Given the description of an element on the screen output the (x, y) to click on. 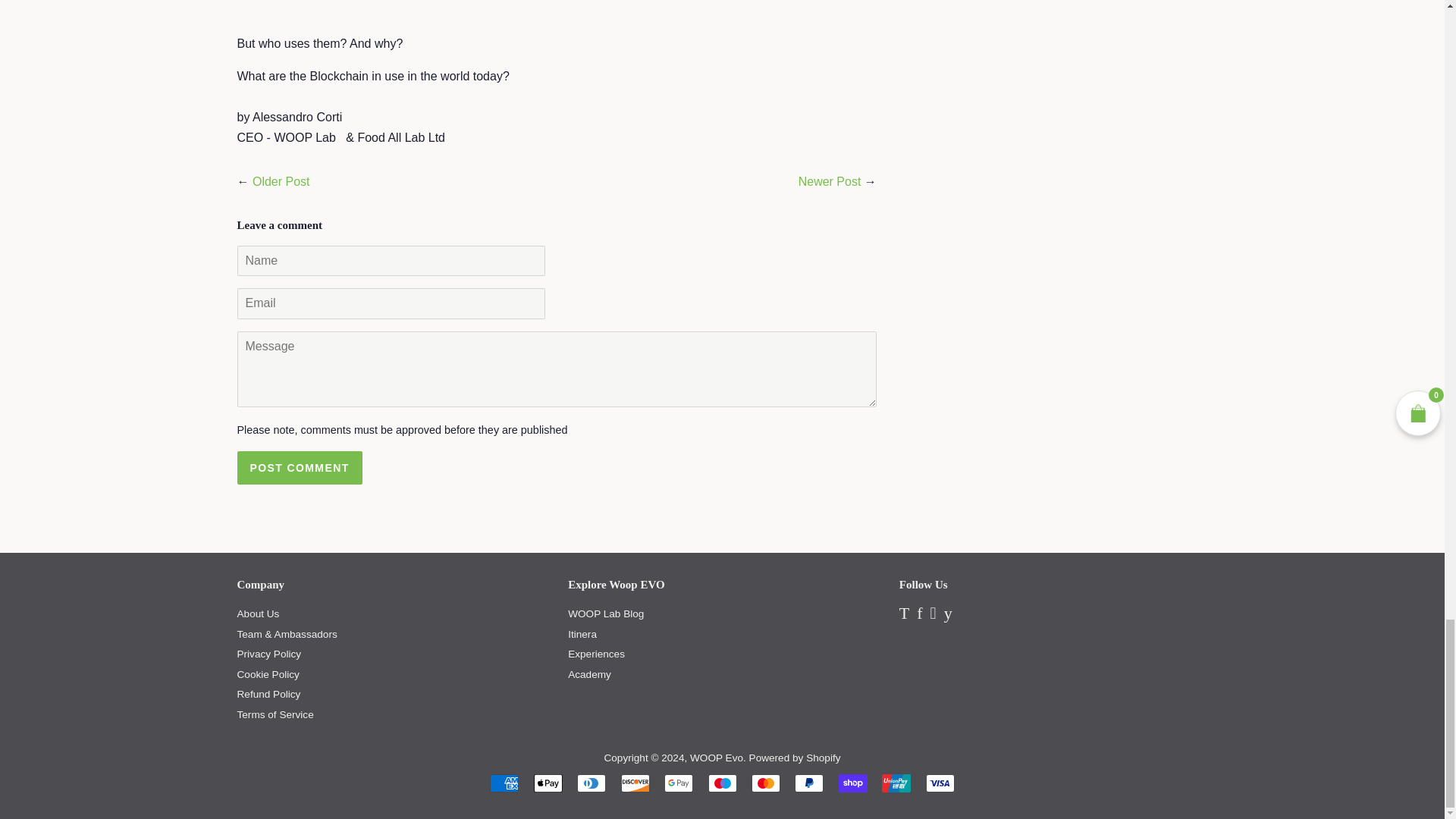
Post comment (298, 467)
Union Pay (896, 782)
Apple Pay (548, 782)
American Express (503, 782)
Mastercard (765, 782)
Discover (635, 782)
Newer Post (829, 181)
Diners Club (590, 782)
Maestro (721, 782)
Visa (940, 782)
Shop Pay (852, 782)
Older Post (280, 181)
Google Pay (678, 782)
PayPal (809, 782)
Post comment (298, 467)
